Given the description of an element on the screen output the (x, y) to click on. 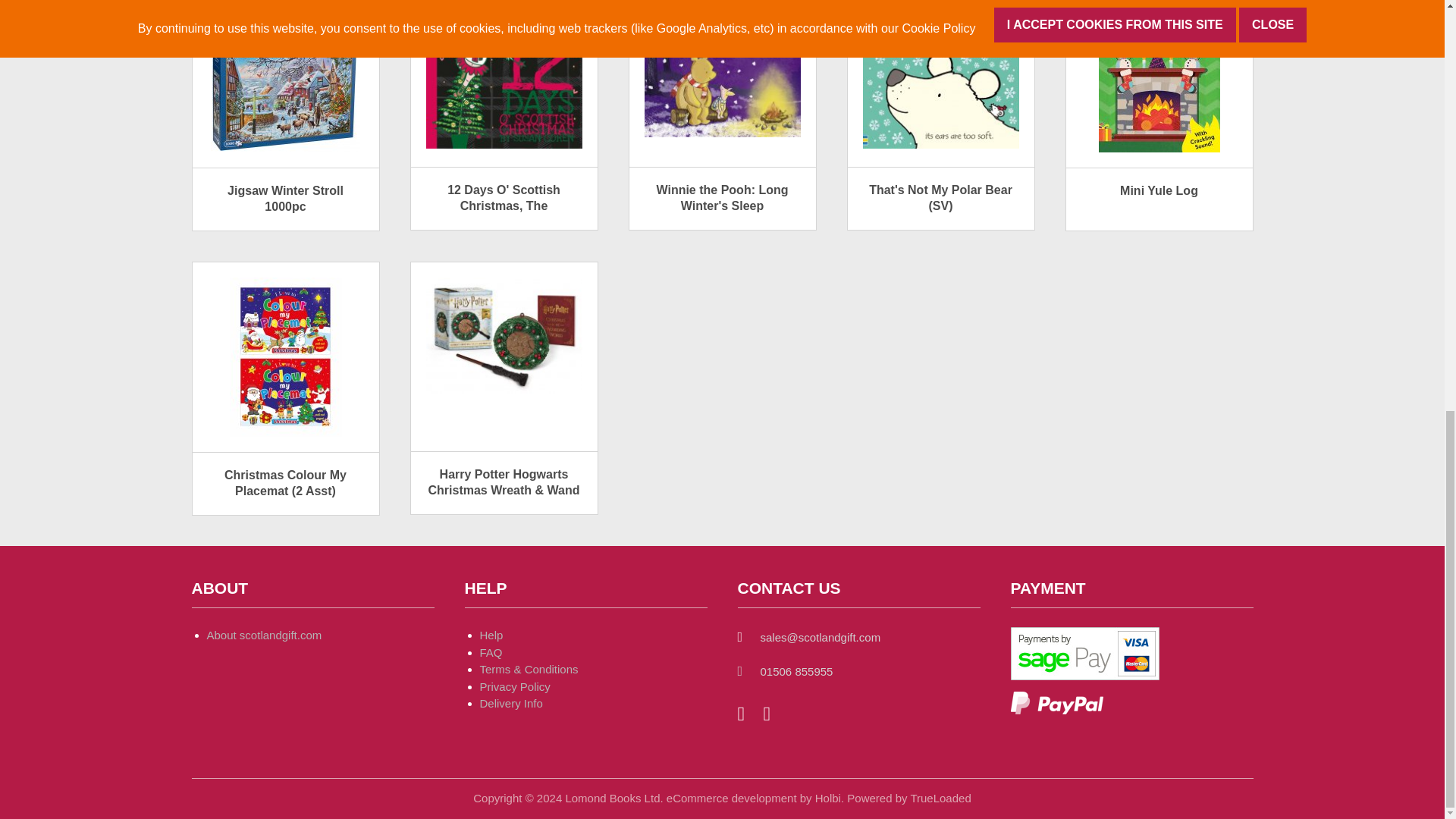
Mini Yule Log (1158, 76)
